Given the description of an element on the screen output the (x, y) to click on. 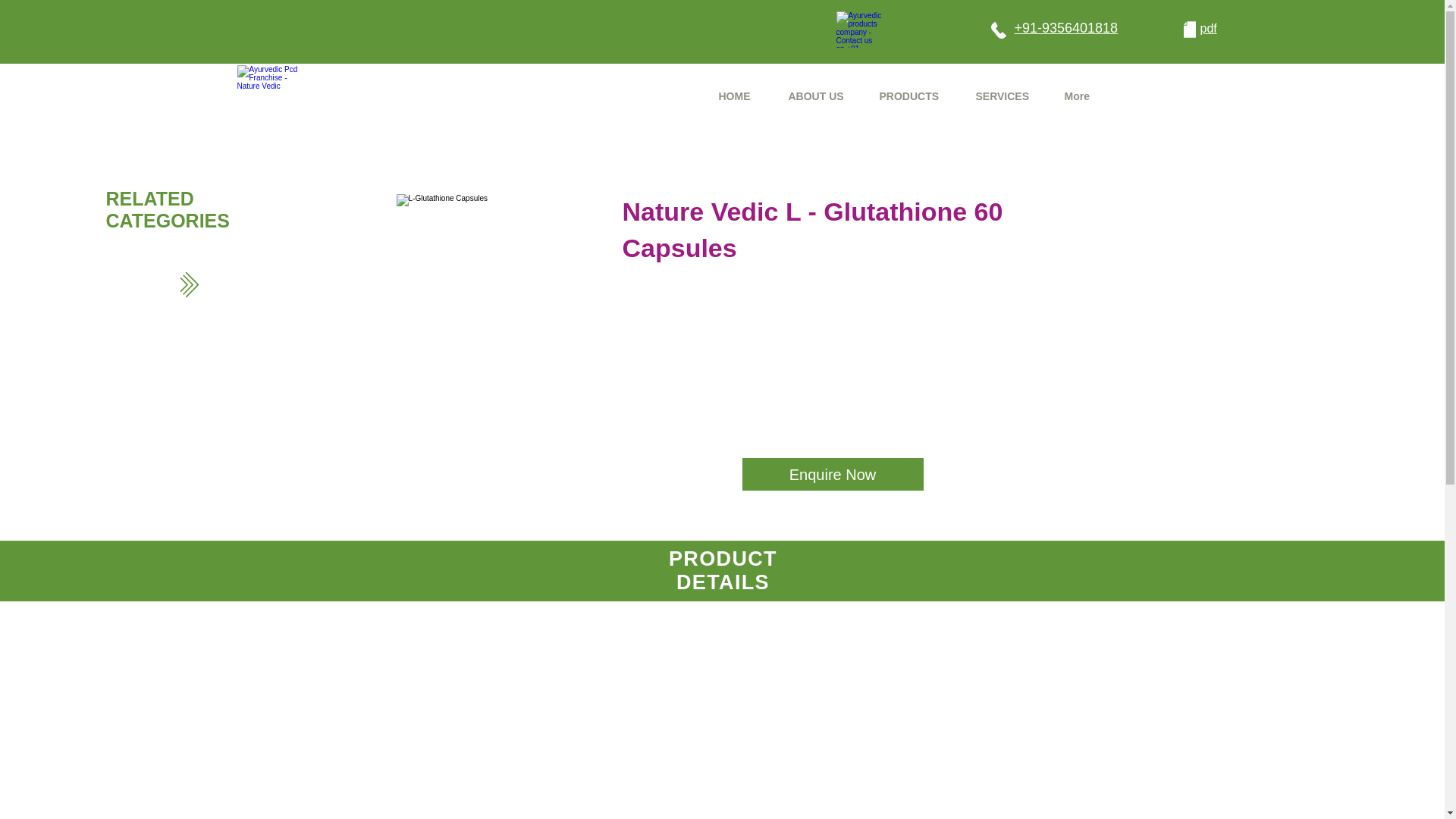
Enquire Now (832, 474)
ABOUT US (821, 96)
HOME (741, 96)
pdf (1207, 28)
SERVICES (1007, 96)
